Given the description of an element on the screen output the (x, y) to click on. 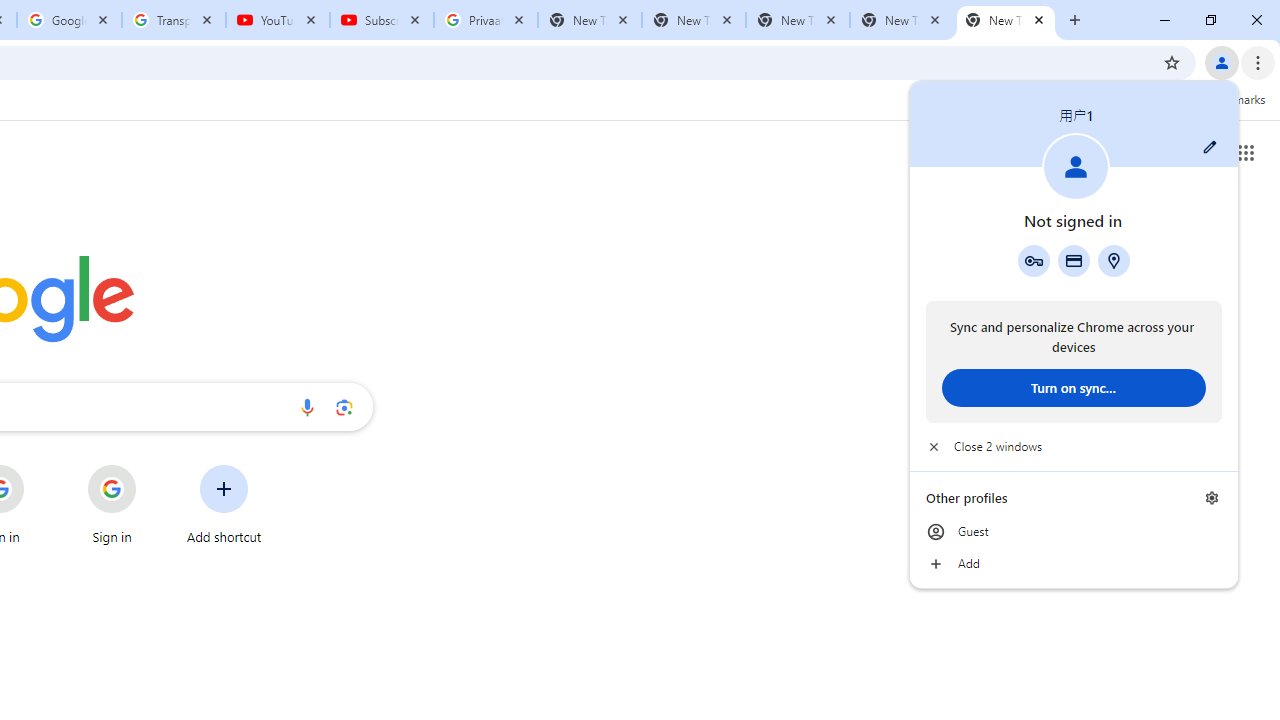
More actions for Sign in shortcut (152, 466)
Google Password Manager (1033, 260)
Subscriptions - YouTube (381, 20)
